Given the description of an element on the screen output the (x, y) to click on. 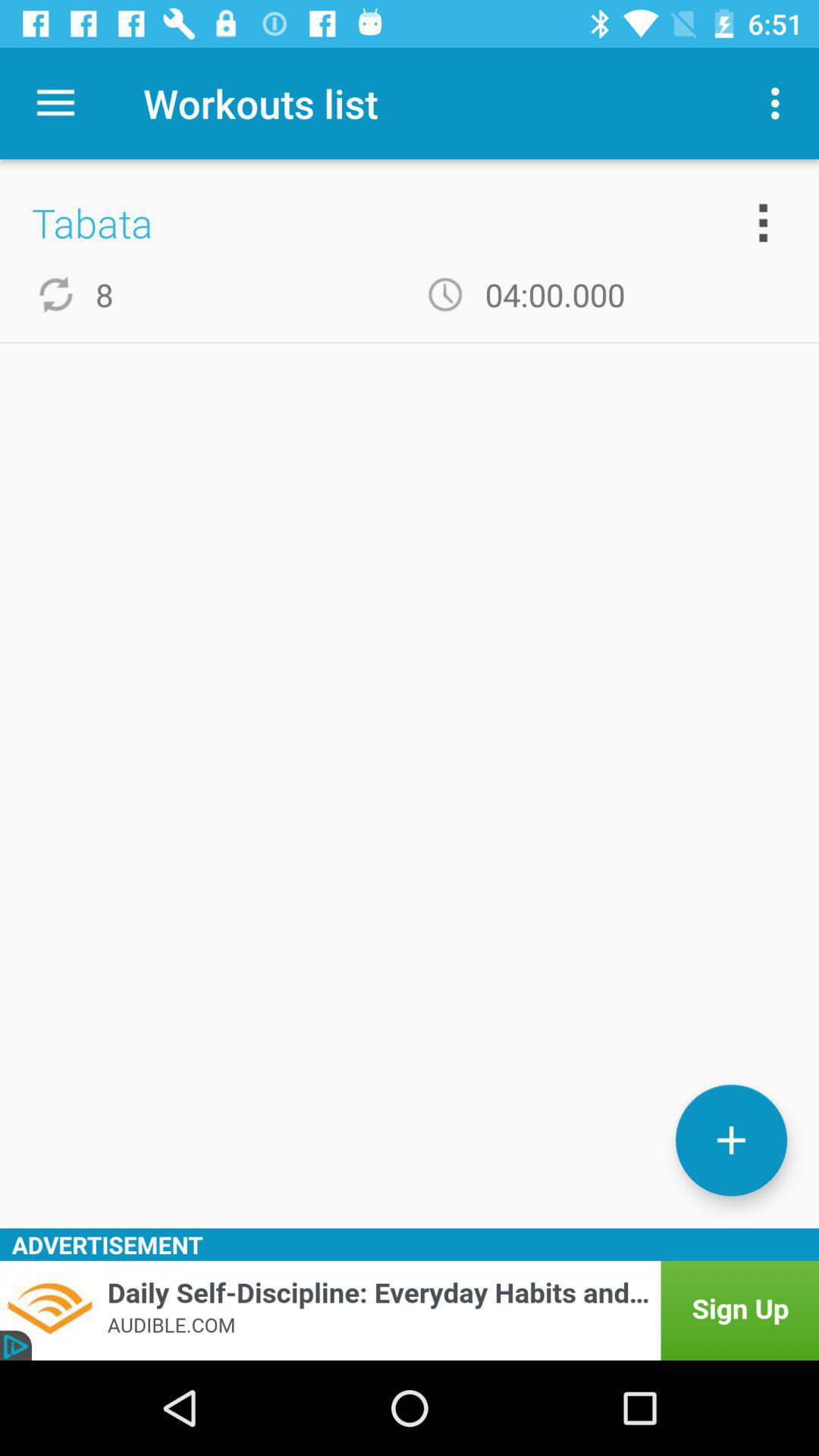
share the article (409, 1310)
